Given the description of an element on the screen output the (x, y) to click on. 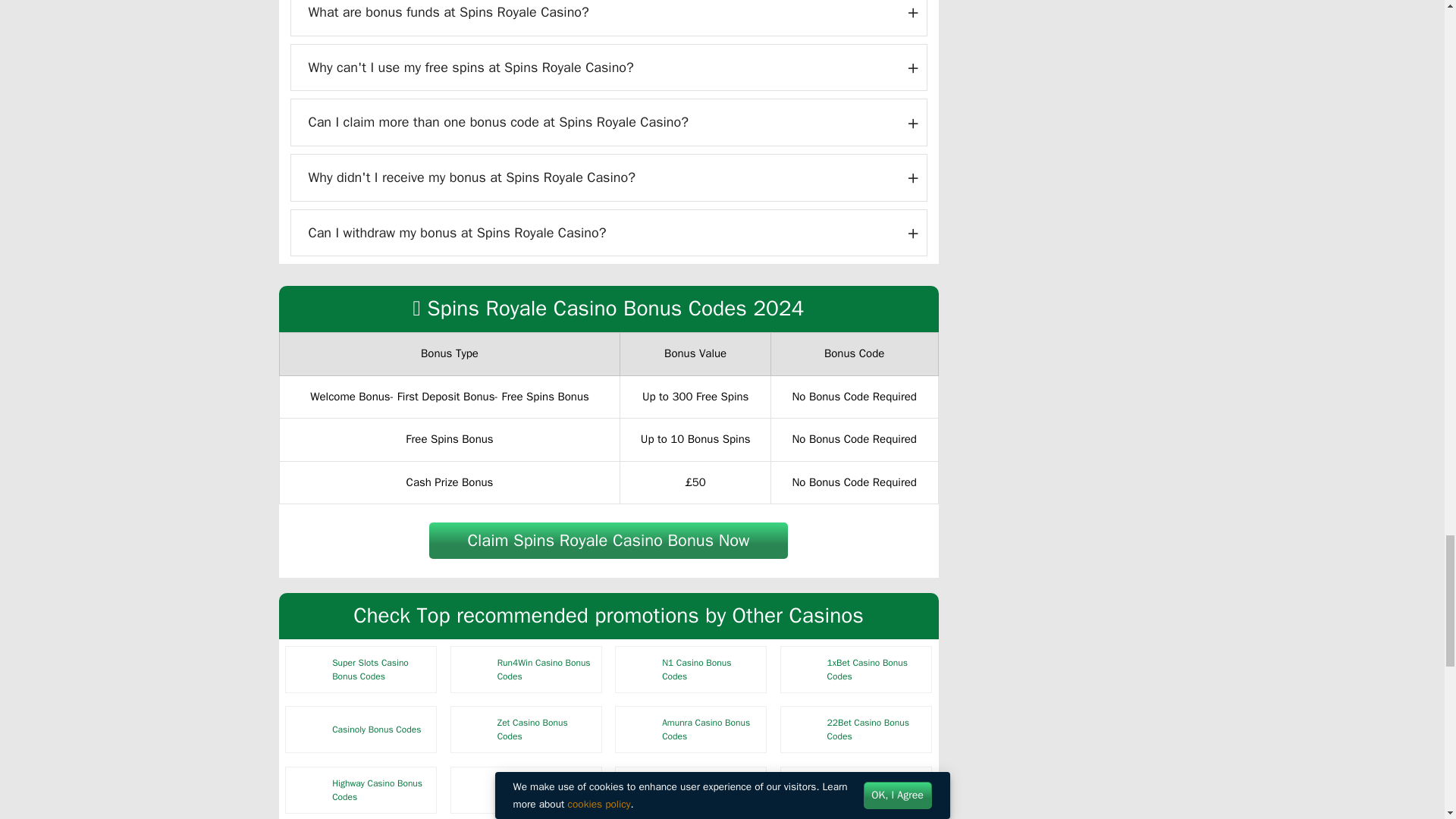
Run4Win Casino (473, 669)
Highway Casino (308, 790)
N1 Casino (639, 669)
1xBet Casino (803, 669)
Zet Casino (473, 729)
Amunra Casino (639, 729)
Casinoly (308, 729)
22Bet Casino (803, 729)
Super Slots Casino (308, 669)
